Given the description of an element on the screen output the (x, y) to click on. 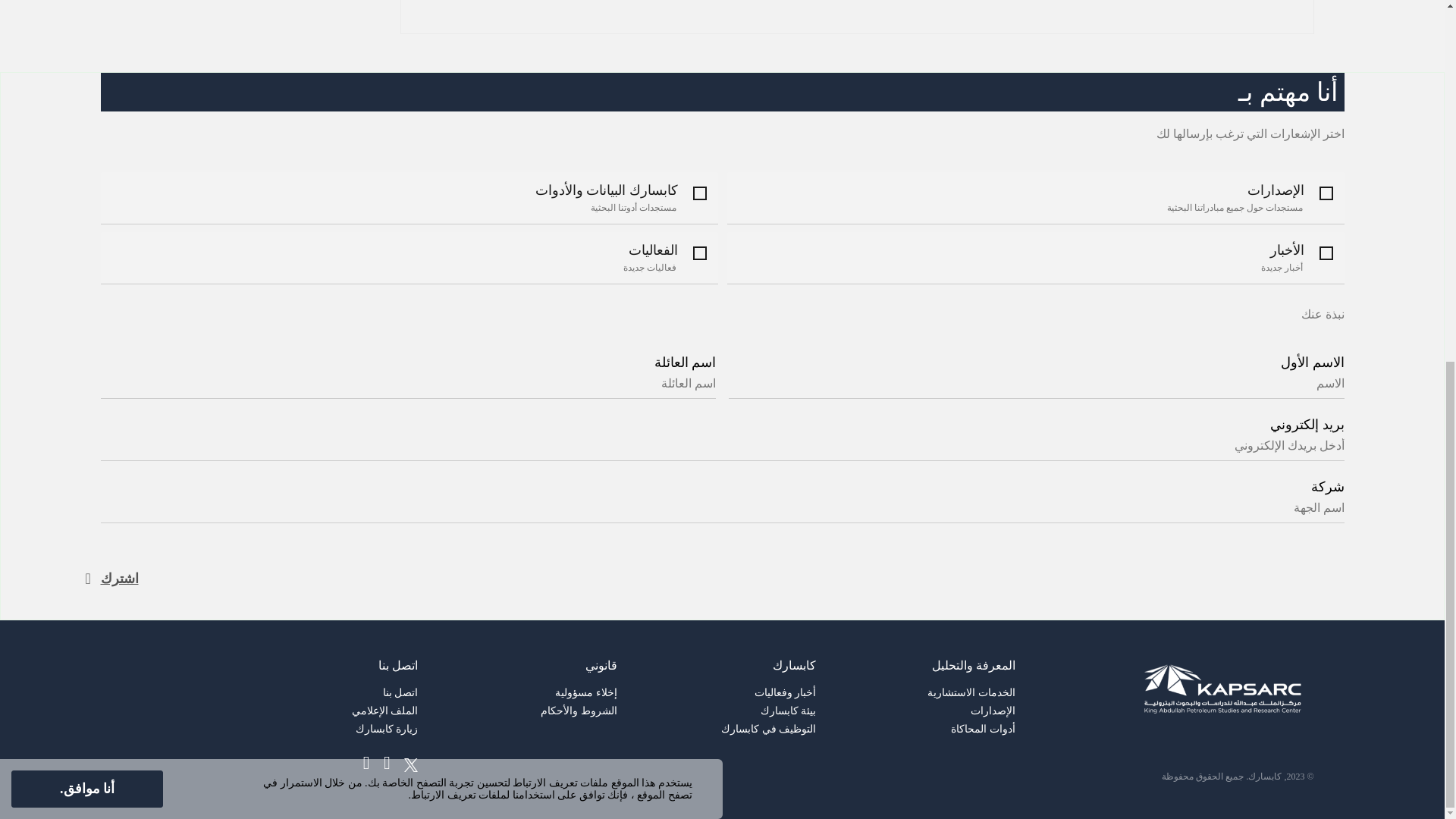
publications (1326, 192)
events (699, 253)
news (1326, 253)
